Given the description of an element on the screen output the (x, y) to click on. 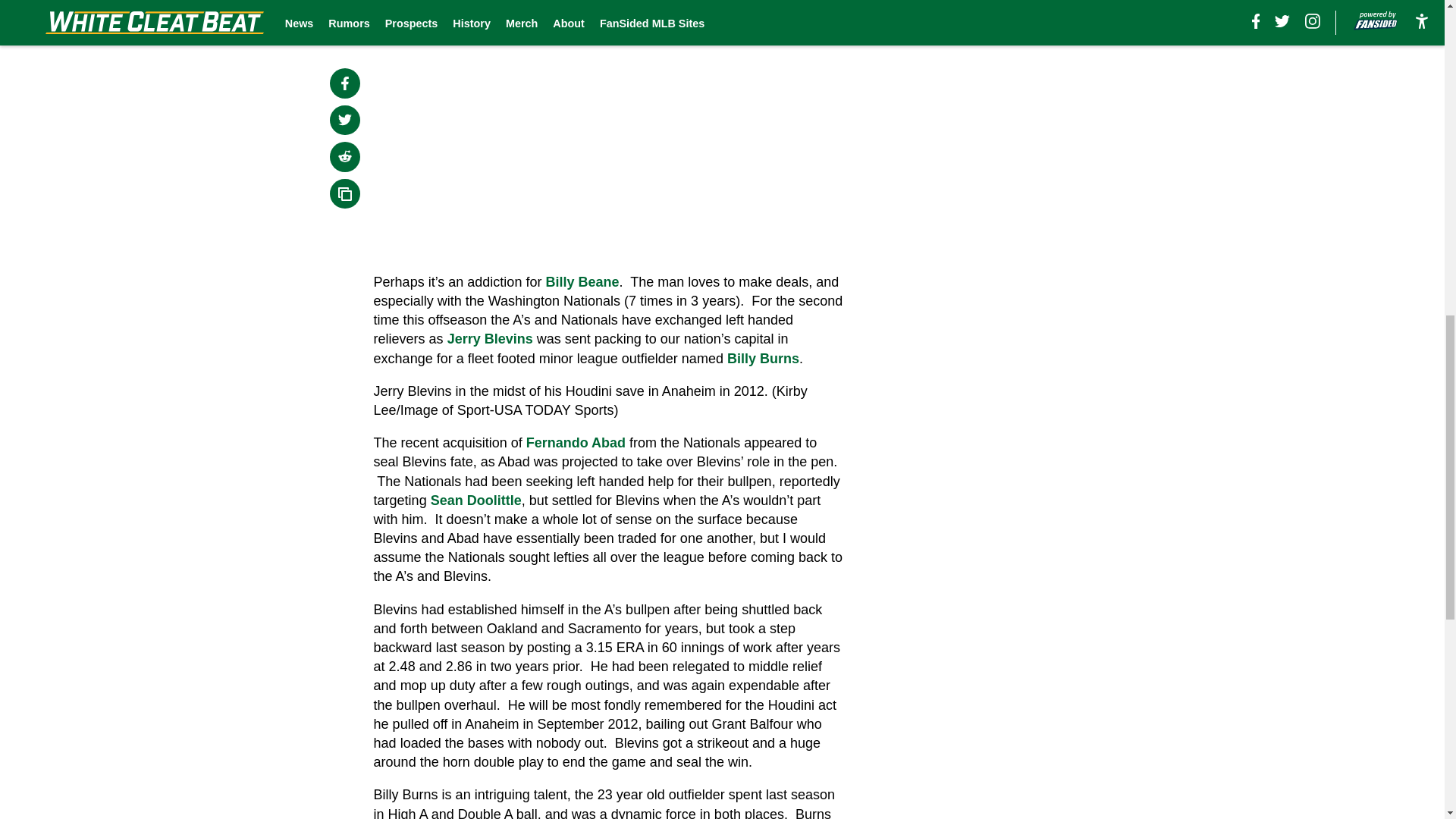
Fernando Abad (575, 442)
Jerry Blevins (489, 338)
Sean Doolittle (475, 500)
Billy Burns (762, 358)
Billy Beane (581, 281)
